Given the description of an element on the screen output the (x, y) to click on. 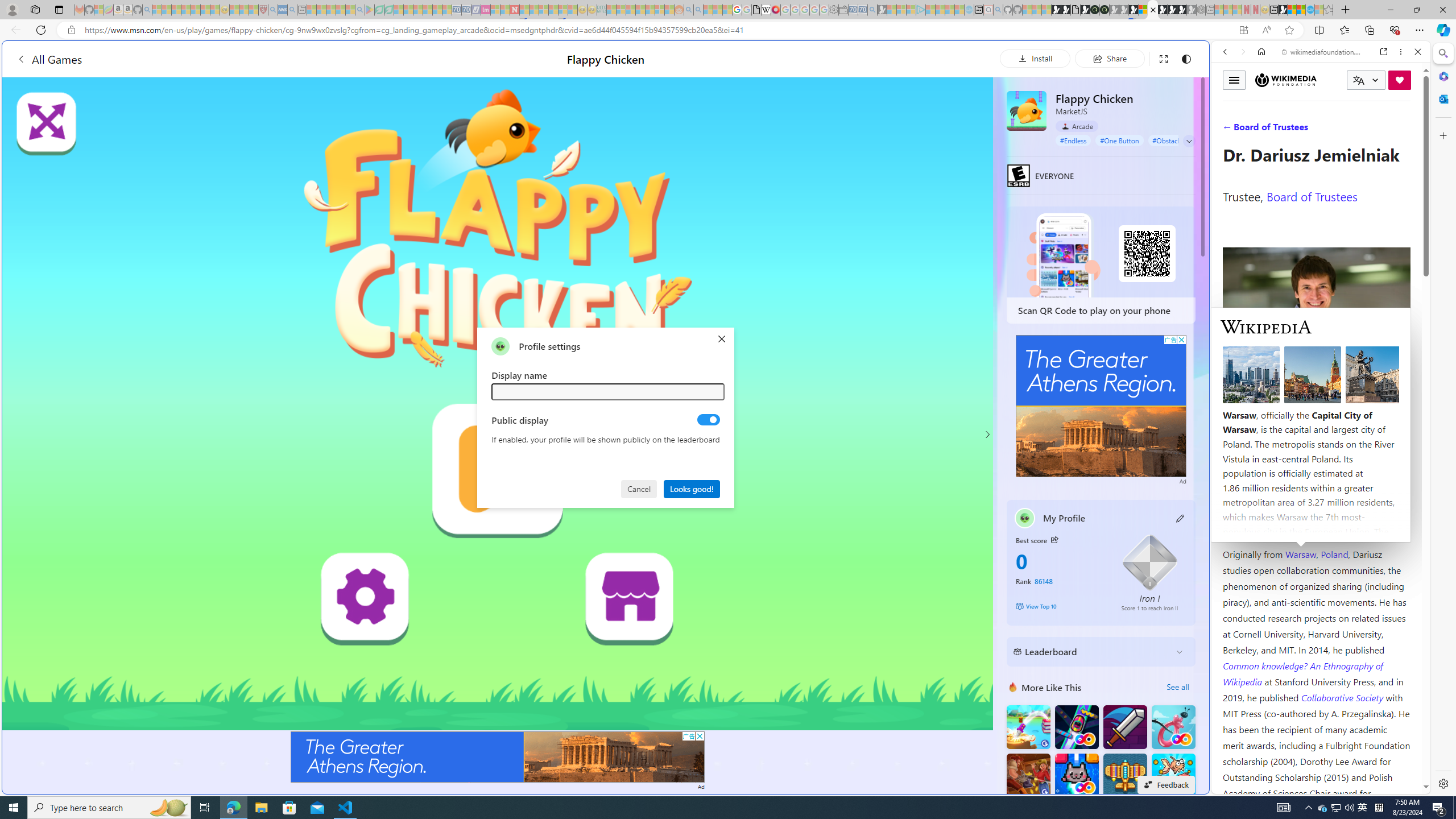
Saloon Robbery (1028, 775)
Class: button (1053, 539)
Dungeon Master Knight (1124, 726)
""'s avatar (500, 345)
MSNBC - MSN - Sleeping (611, 9)
Search or enter web address (922, 108)
Cancel (639, 488)
